Given the description of an element on the screen output the (x, y) to click on. 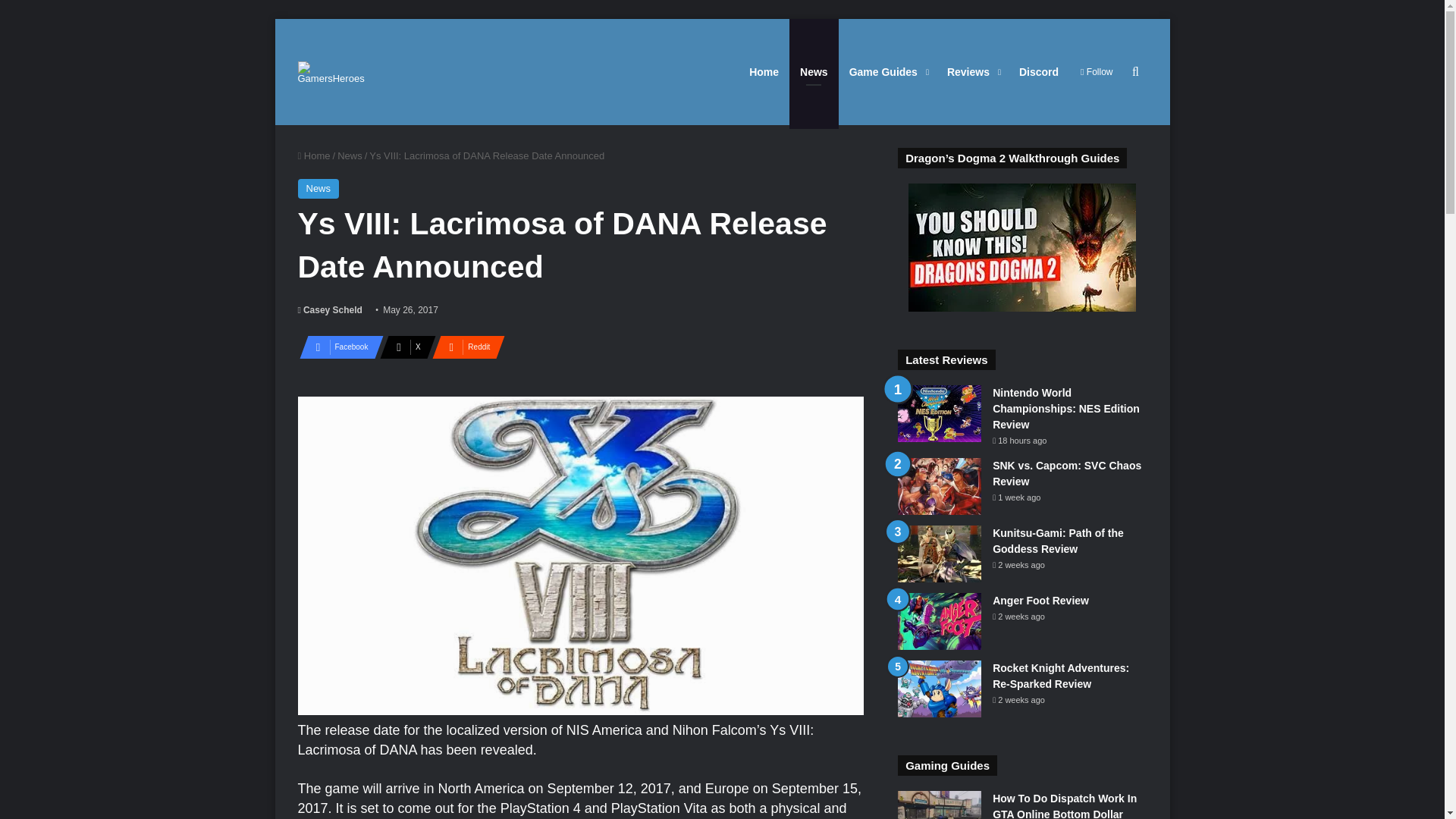
Reddit (464, 346)
Facebook (336, 346)
GamersHeroes (330, 71)
Casey Scheld (329, 309)
Home (313, 155)
Game Guides (887, 71)
X (403, 346)
News (349, 155)
Game Guides (887, 71)
News (318, 189)
